Given the description of an element on the screen output the (x, y) to click on. 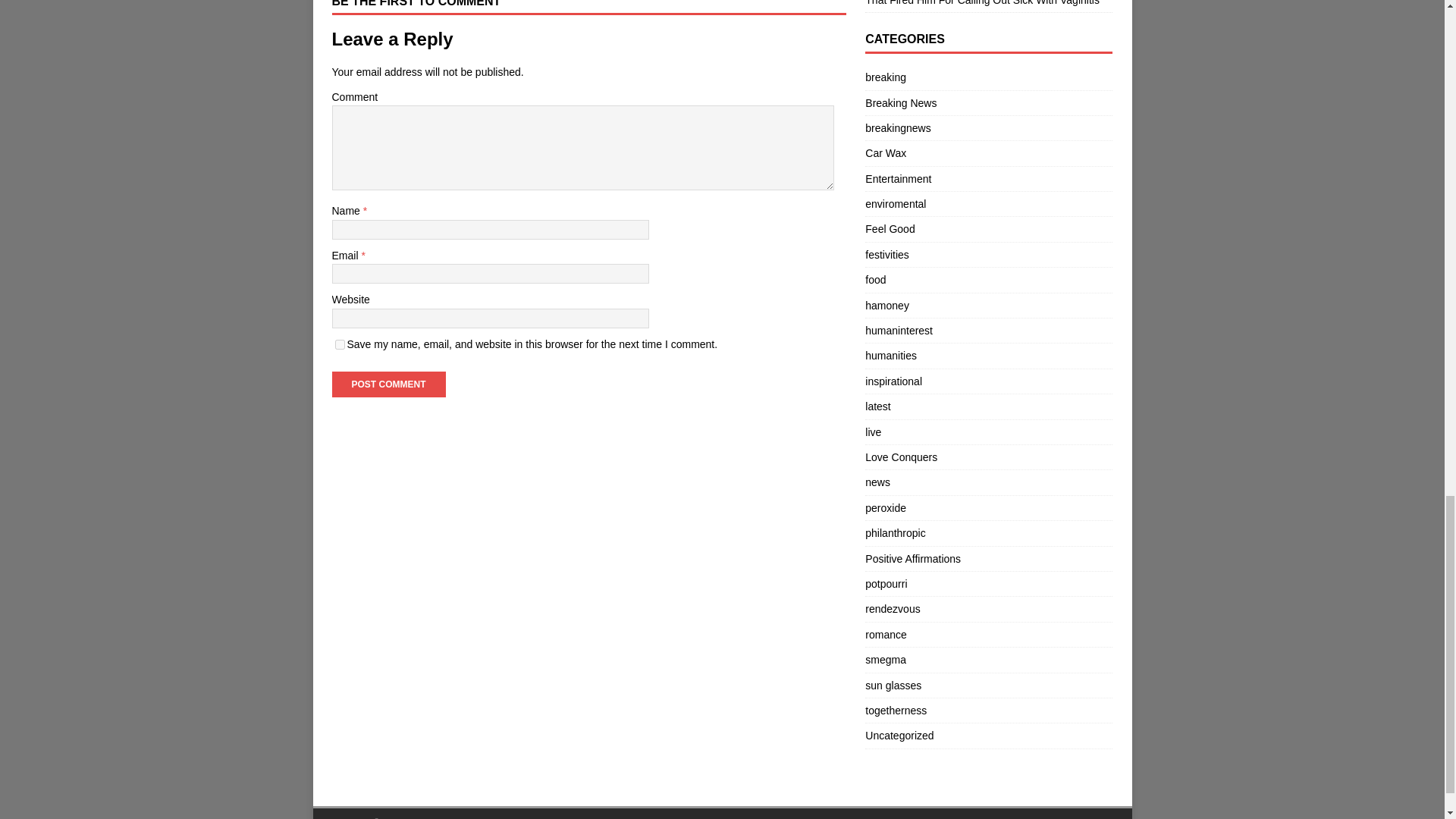
Post Comment (388, 384)
Post Comment (388, 384)
yes (339, 344)
